Given the description of an element on the screen output the (x, y) to click on. 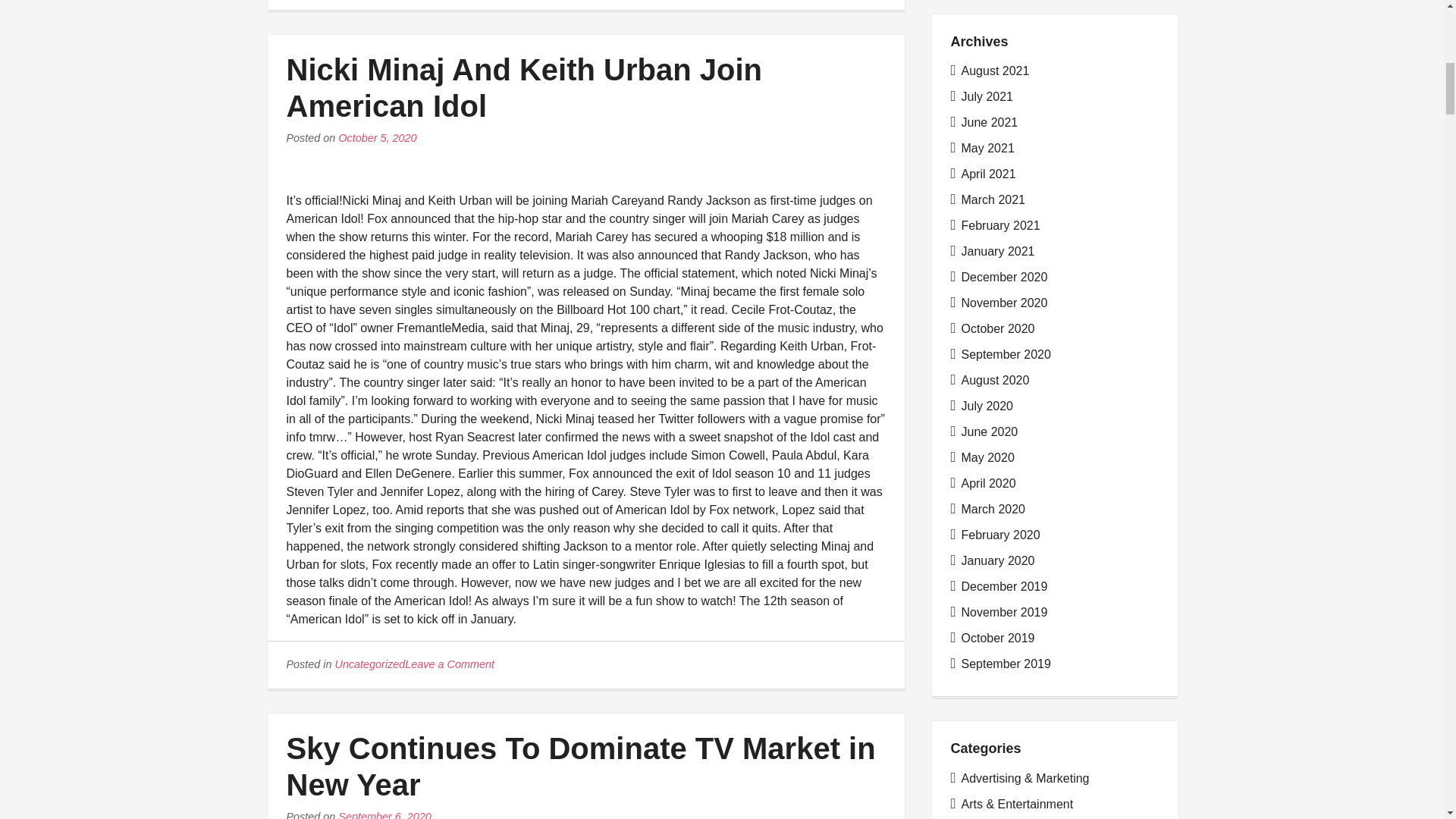
October 5, 2020 (376, 137)
Uncategorized (370, 664)
Sky Continues To Dominate TV Market in New Year (581, 766)
September 6, 2020 (383, 814)
Nicki Minaj And Keith Urban Join American Idol (523, 87)
